Given the description of an element on the screen output the (x, y) to click on. 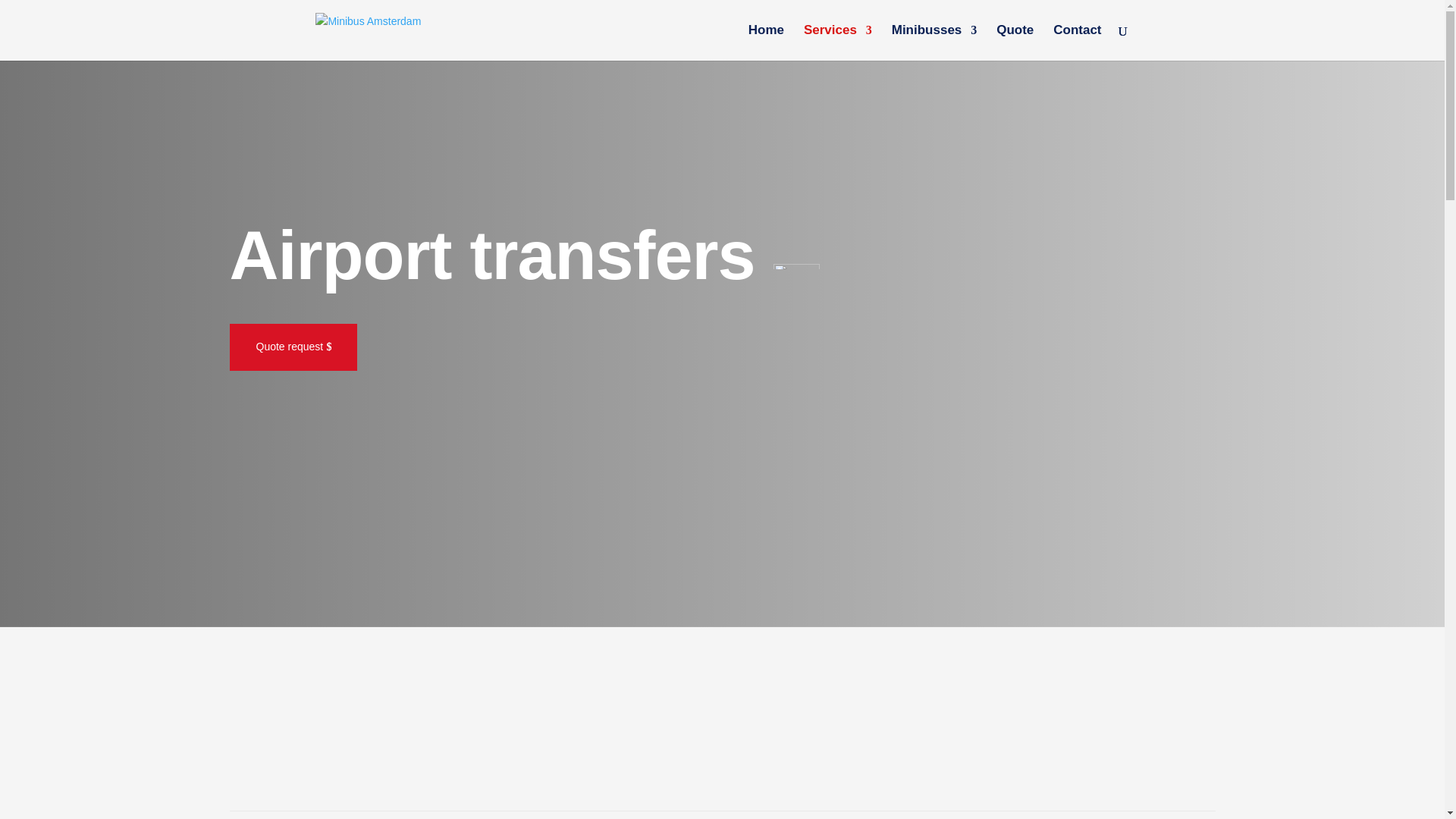
Home (766, 42)
Quote (1014, 42)
Minibusses (933, 42)
Contact (1076, 42)
Services (837, 42)
